Given the description of an element on the screen output the (x, y) to click on. 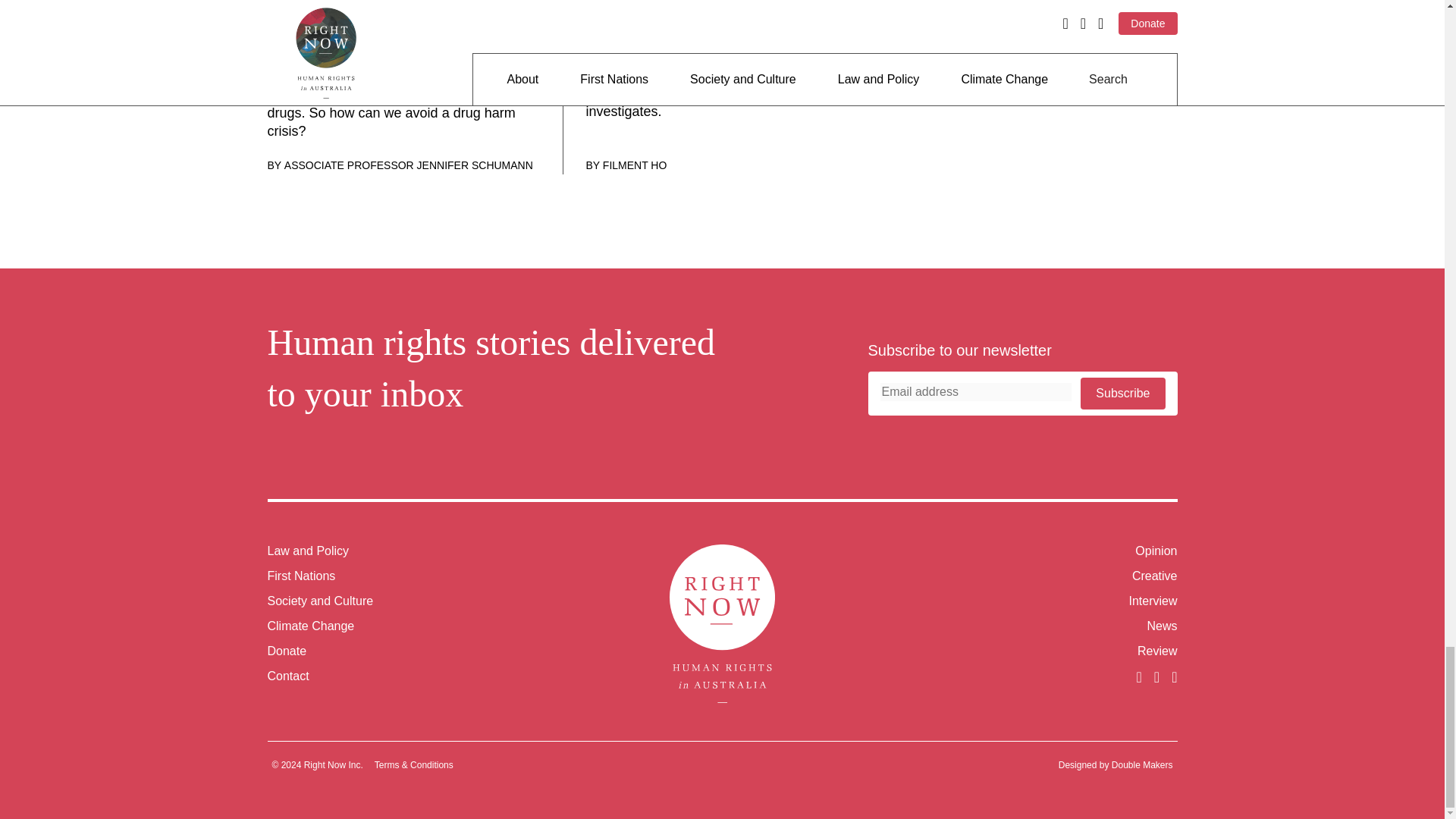
Subscribe (1122, 393)
